Given the description of an element on the screen output the (x, y) to click on. 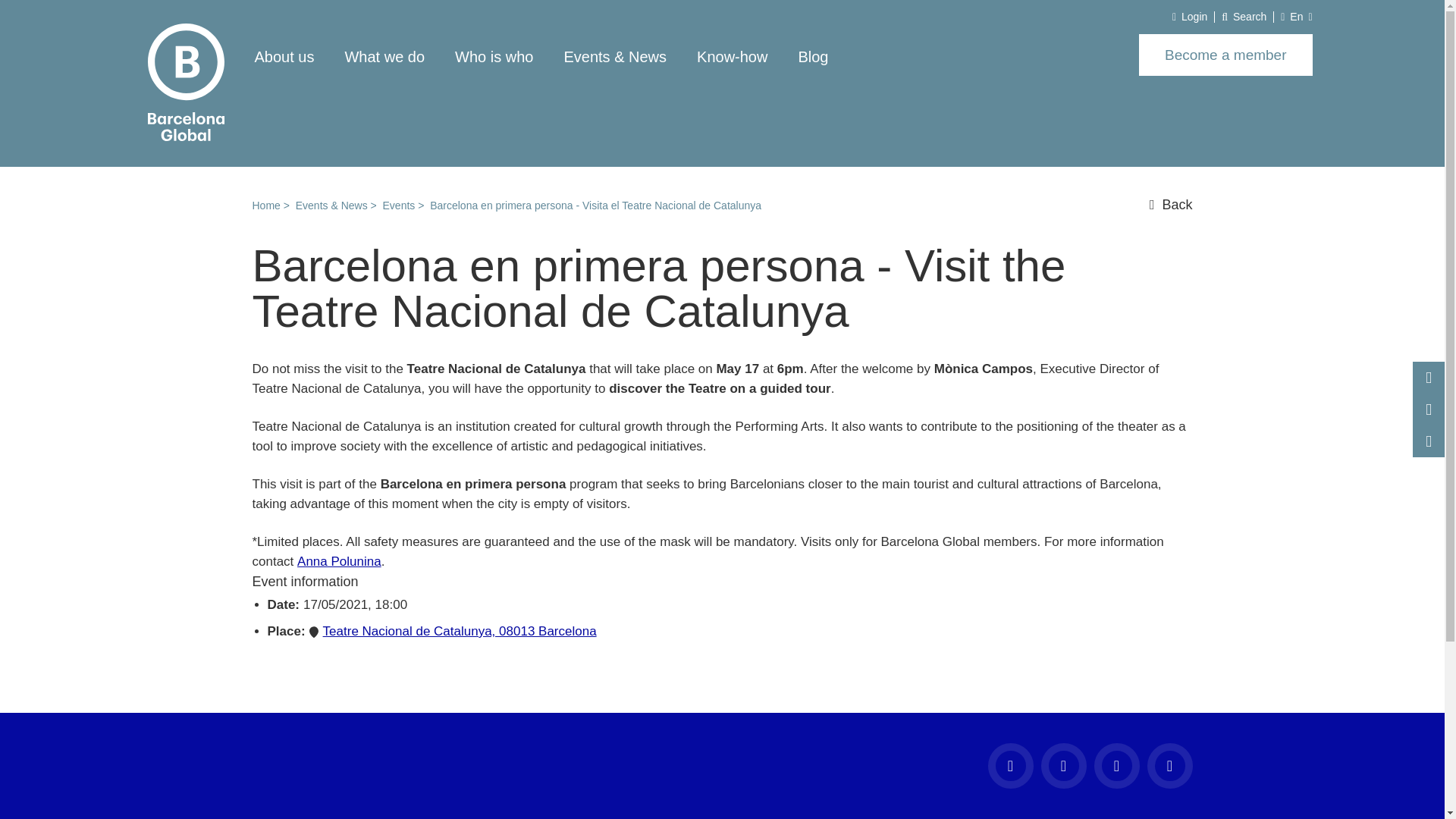
About us (284, 56)
Instagram (1063, 765)
Login (1190, 16)
Who is who (493, 56)
Search (1174, 117)
Know-how (732, 56)
Twitter (1115, 765)
LinkedIn (1169, 765)
What we do (384, 56)
Facebook (1009, 765)
